Given the description of an element on the screen output the (x, y) to click on. 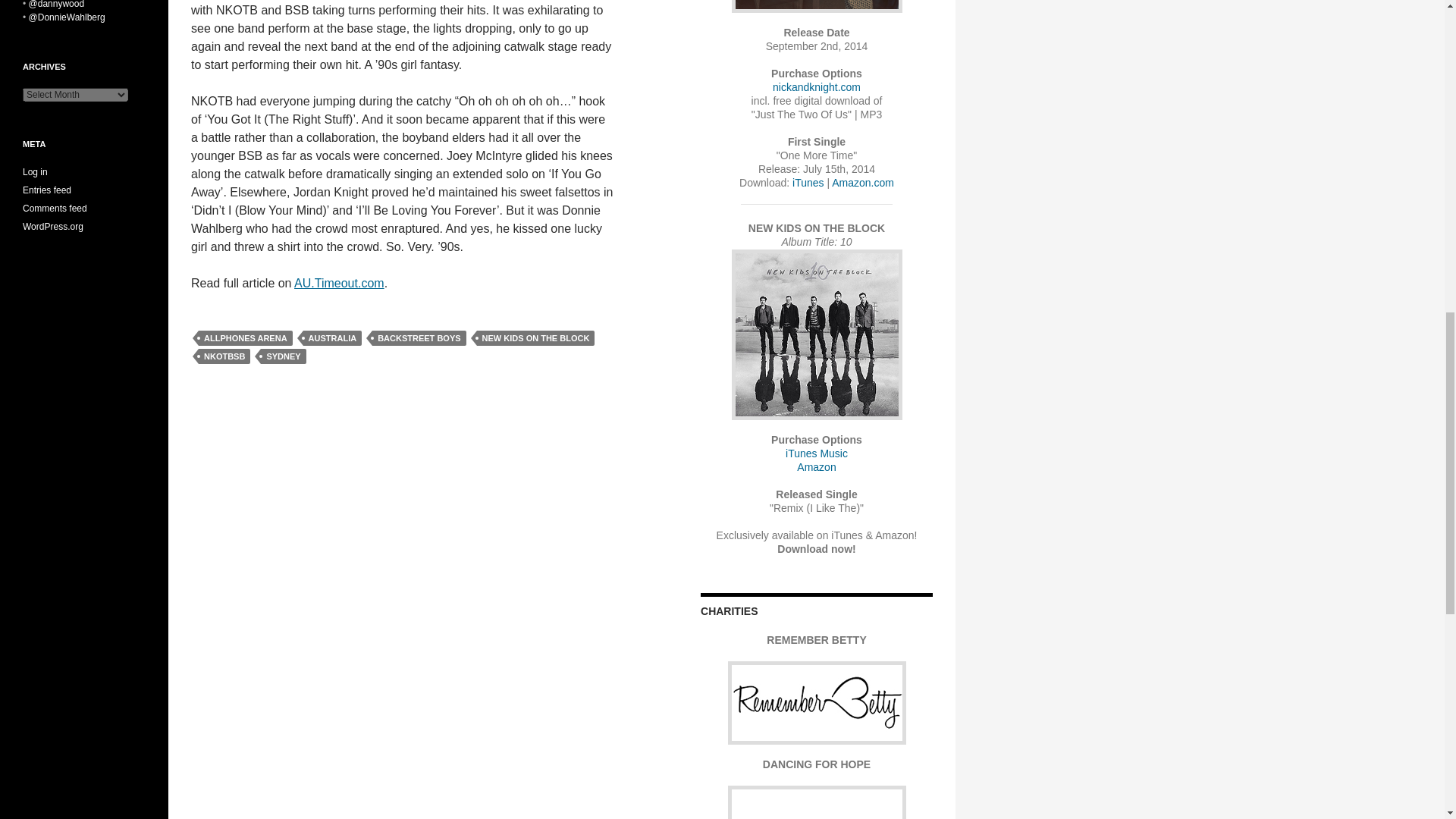
Remember Betty (816, 702)
AU.Timeout.com (339, 282)
Dancing For Hope (816, 802)
New Kids on the Block - 10 (815, 334)
AUSTRALIA (332, 337)
ALLPHONES ARENA (245, 337)
